Given the description of an element on the screen output the (x, y) to click on. 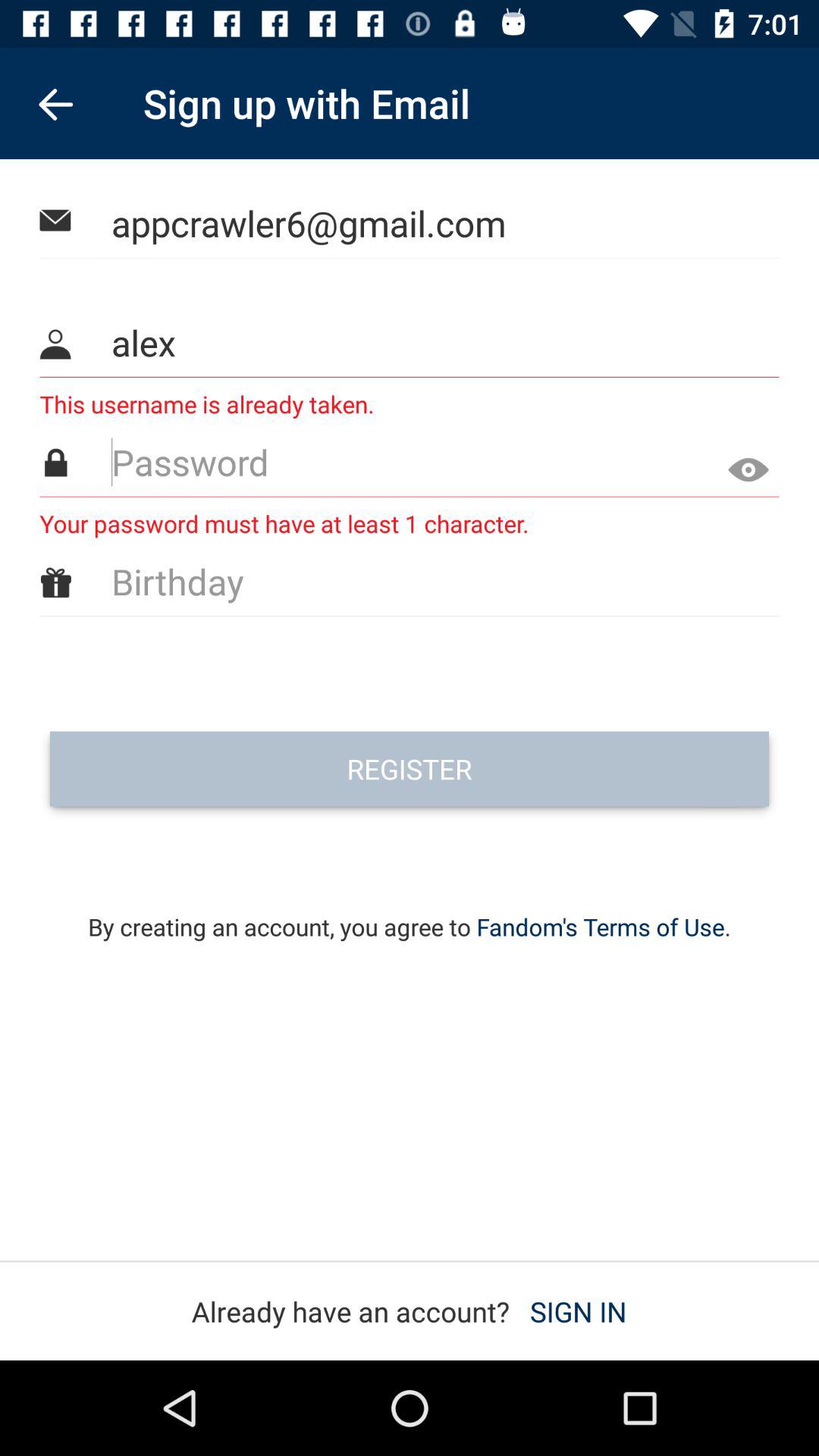
jump to the by creating an item (409, 906)
